Given the description of an element on the screen output the (x, y) to click on. 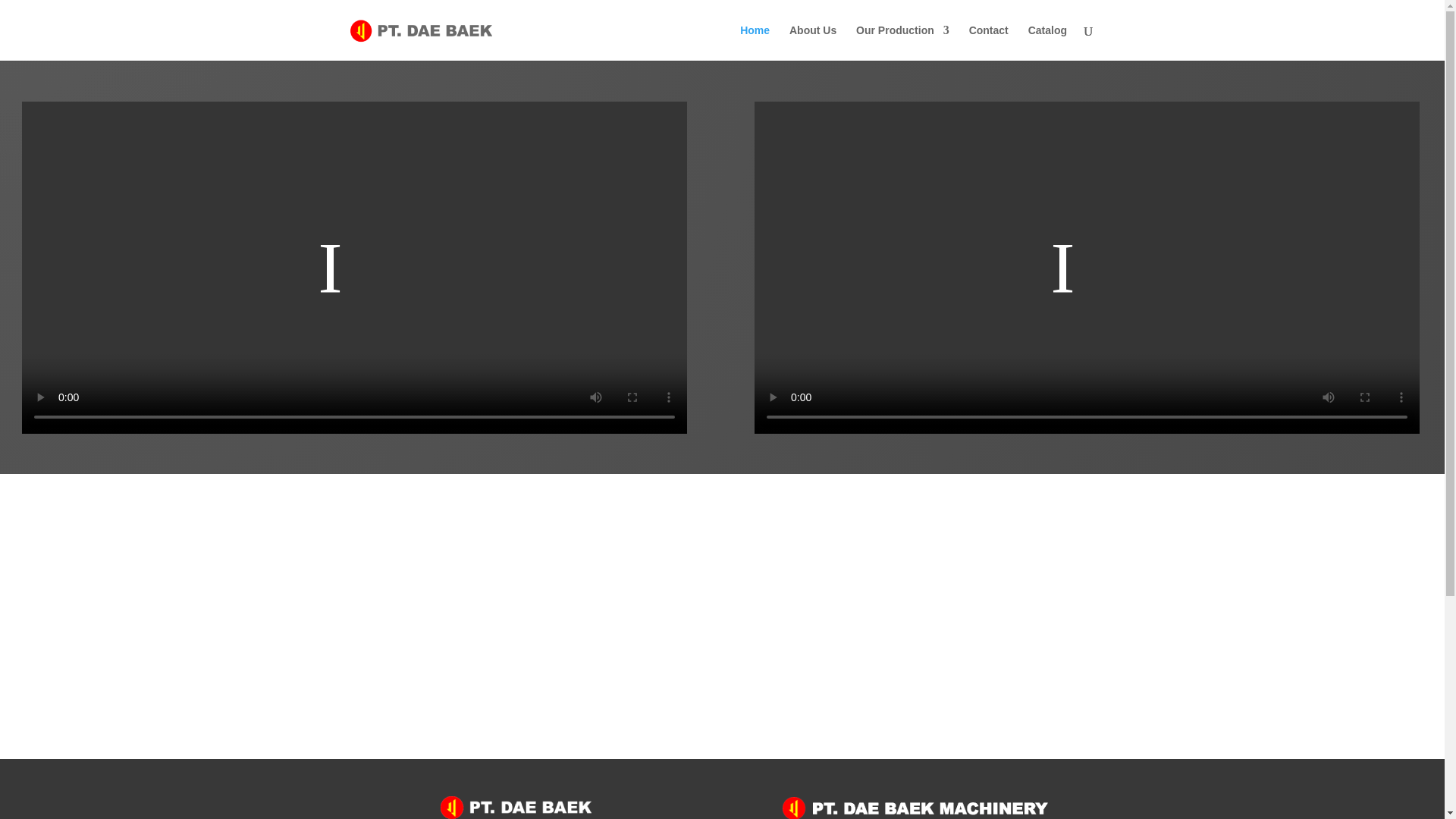
Contact (989, 42)
Catalog (1047, 42)
Our Production (902, 42)
About Us (812, 42)
